Given the description of an element on the screen output the (x, y) to click on. 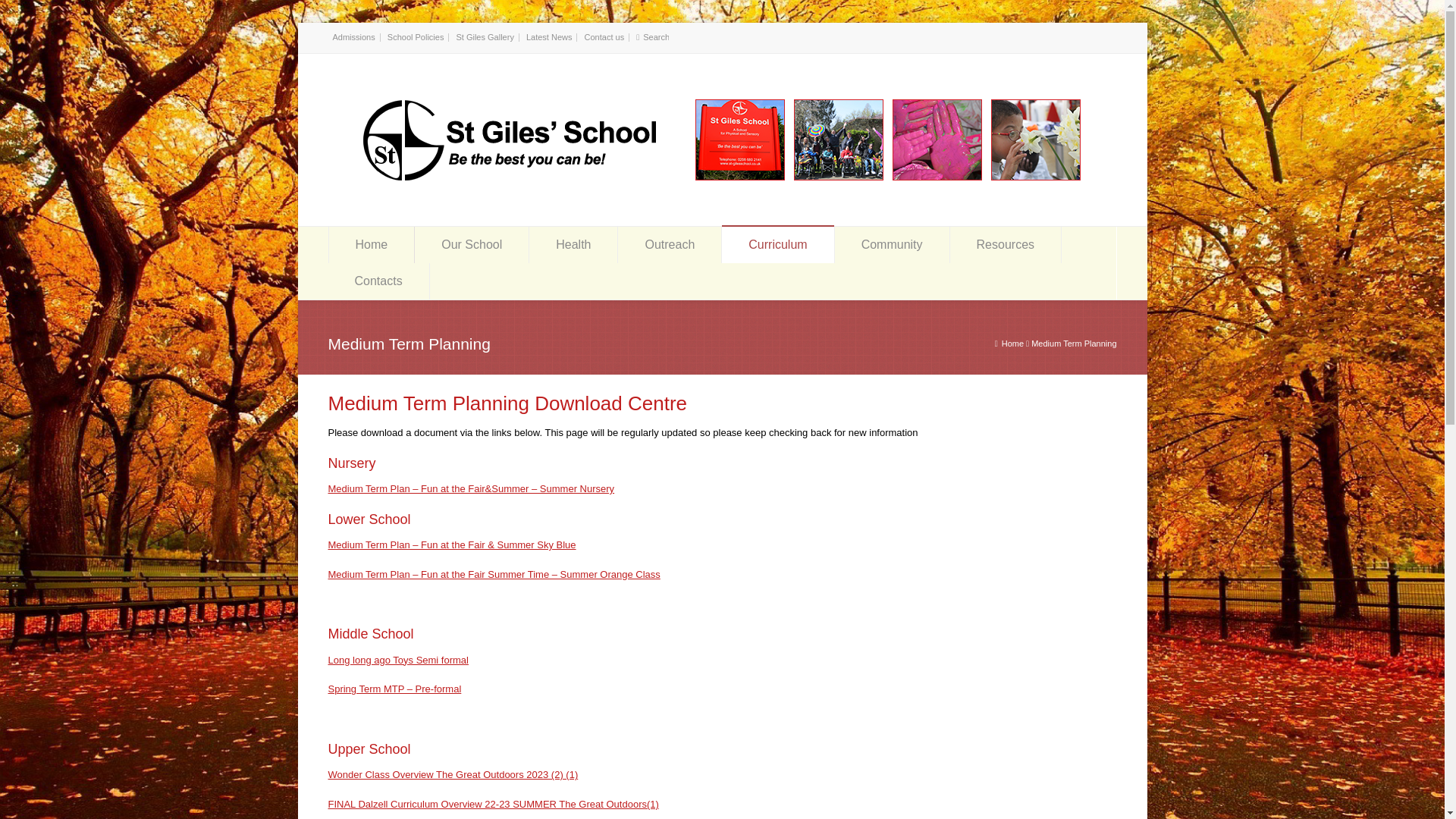
Home (371, 244)
Search (655, 36)
Admissions (352, 36)
Contact us (604, 36)
Latest News (548, 36)
Health (573, 244)
Our School (471, 244)
School Policies (415, 36)
Search (655, 36)
St Giles Gallery (484, 36)
